Given the description of an element on the screen output the (x, y) to click on. 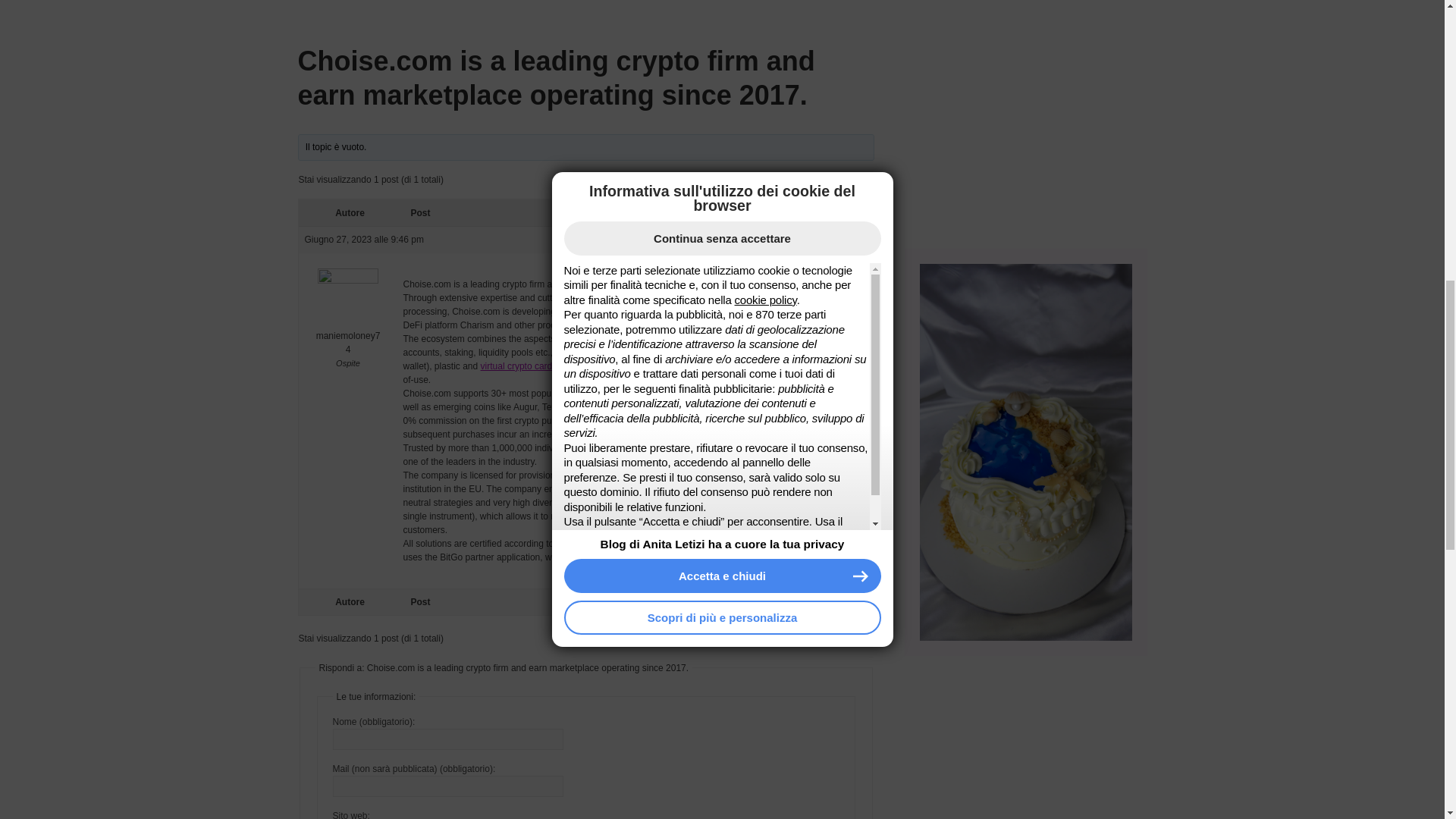
virtual crypto card (516, 366)
RISPONDI (805, 239)
